Given the description of an element on the screen output the (x, y) to click on. 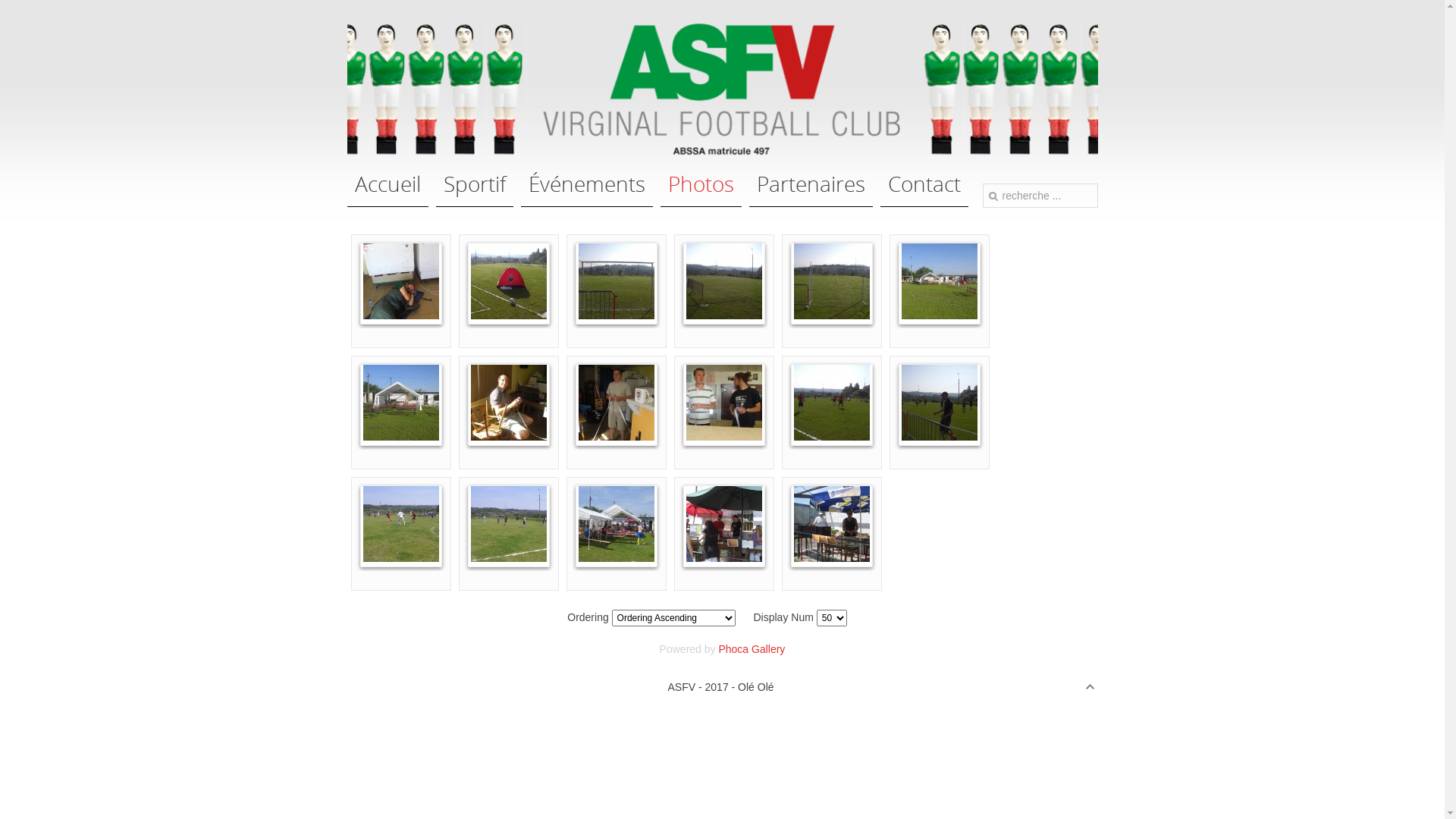
Contact Element type: text (923, 195)
Accueil Element type: text (387, 195)
Photos Element type: text (699, 195)
Reset Element type: text (3, 3)
Phoca Gallery Element type: text (751, 649)
Partenaires Element type: text (810, 195)
Sportif Element type: text (473, 195)
